Given the description of an element on the screen output the (x, y) to click on. 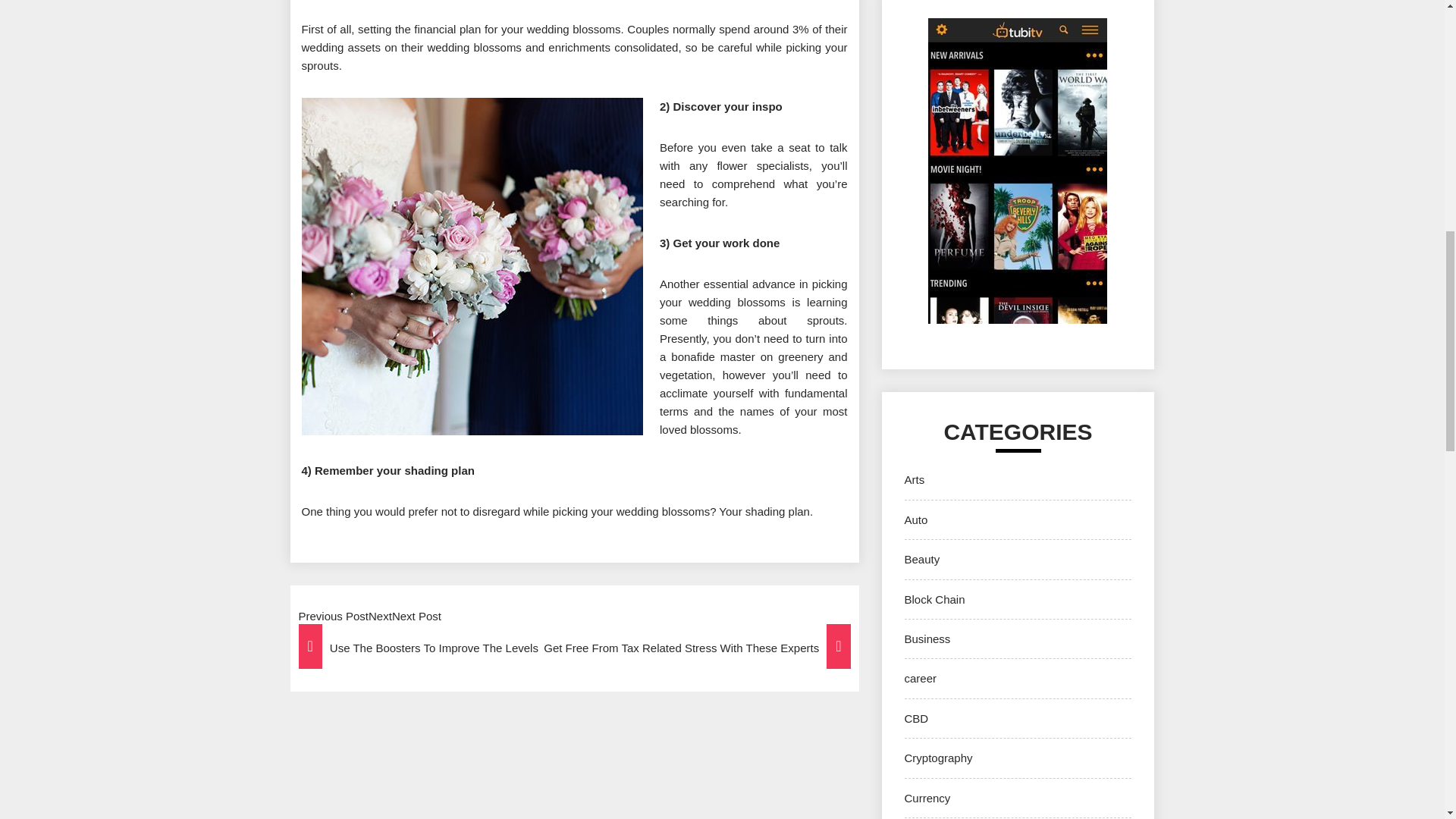
Auto (915, 519)
Arts (914, 479)
CBD (916, 717)
Currency (927, 797)
Block Chain (933, 599)
career (920, 677)
Cryptography (938, 757)
Business (927, 638)
Beauty (921, 558)
